Given the description of an element on the screen output the (x, y) to click on. 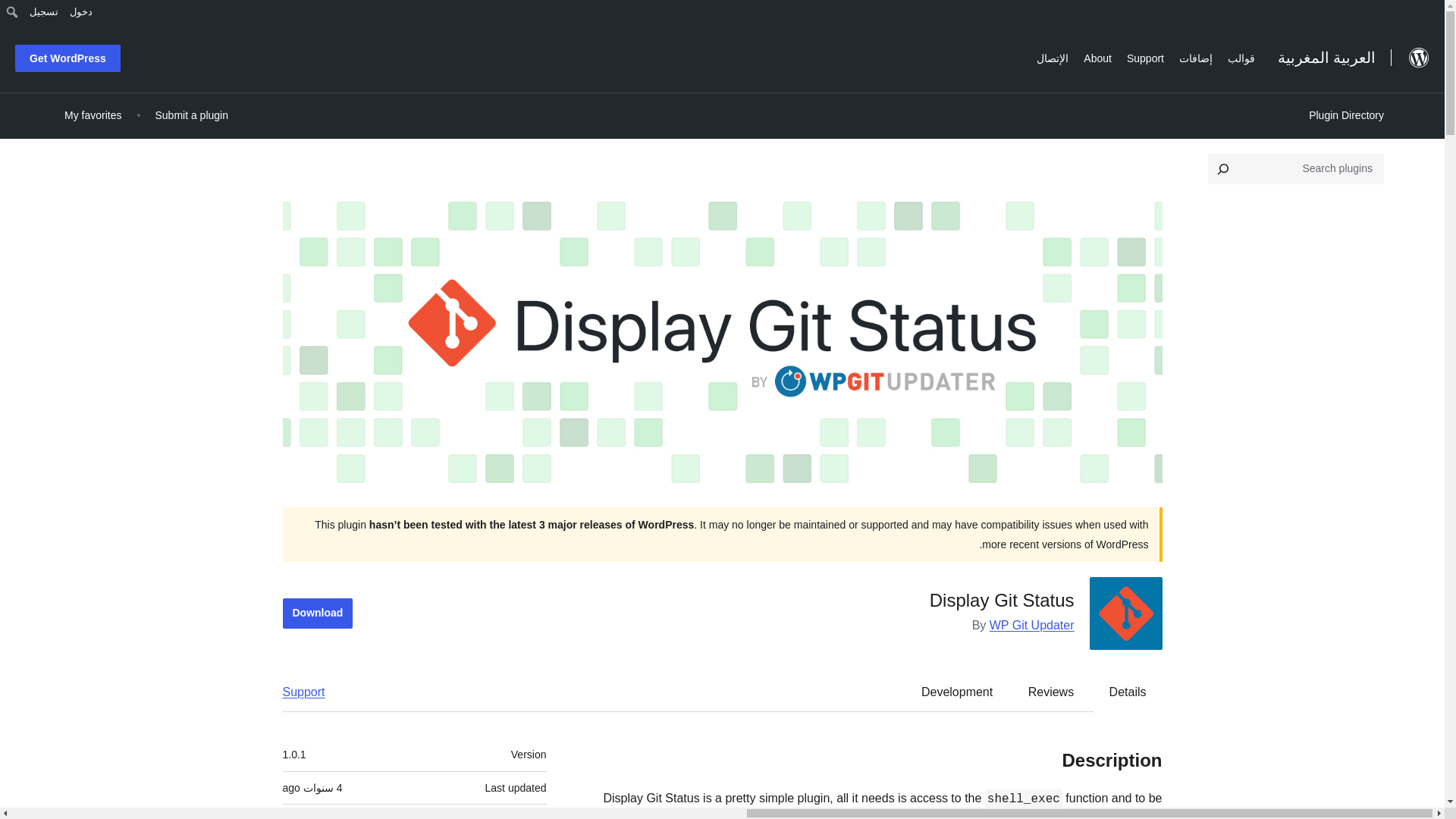
Support (310, 692)
Plugin Directory (1345, 115)
My favorites (93, 115)
Details (1127, 692)
Development (956, 692)
Get WordPress (67, 58)
Submit a plugin (191, 115)
WP Git Updater (1032, 625)
Reviews (1051, 692)
Download (317, 613)
